Given the description of an element on the screen output the (x, y) to click on. 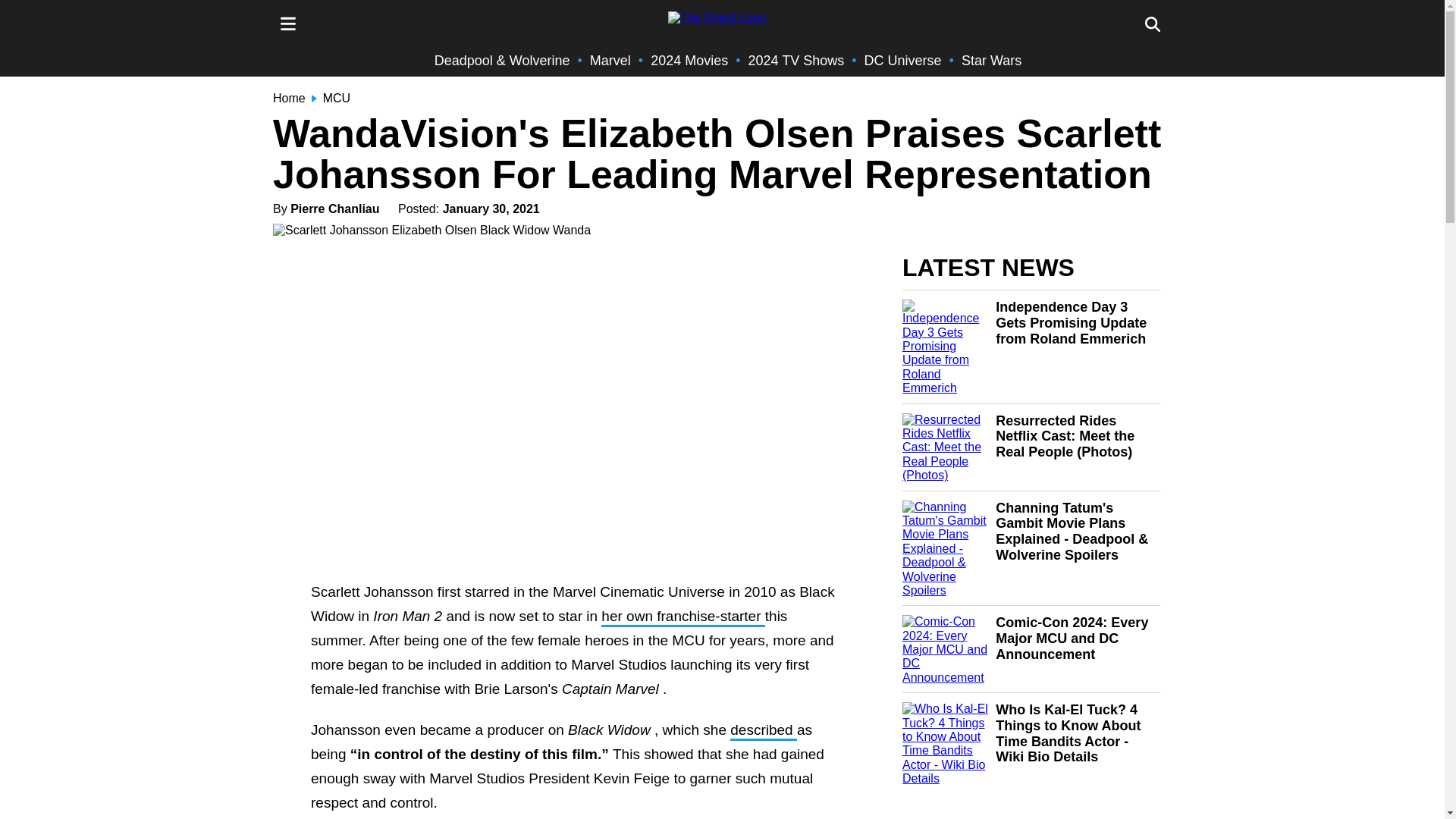
Marvel (609, 60)
Star Wars (991, 60)
DC Universe (903, 60)
2024 Movies (689, 60)
2024 TV Shows (796, 60)
